Given the description of an element on the screen output the (x, y) to click on. 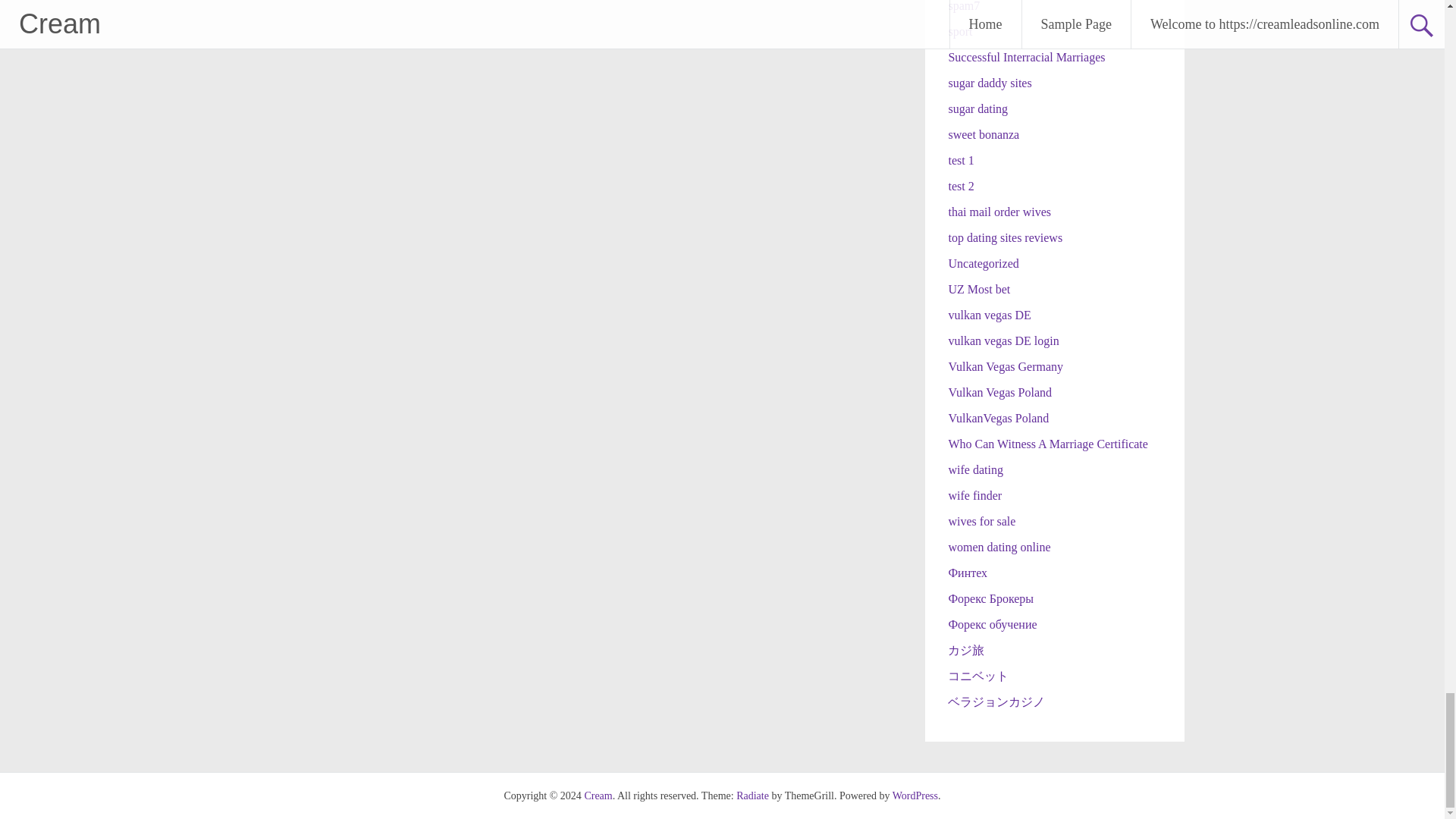
WordPress (914, 795)
Radiate (752, 795)
Cream (597, 795)
